Given the description of an element on the screen output the (x, y) to click on. 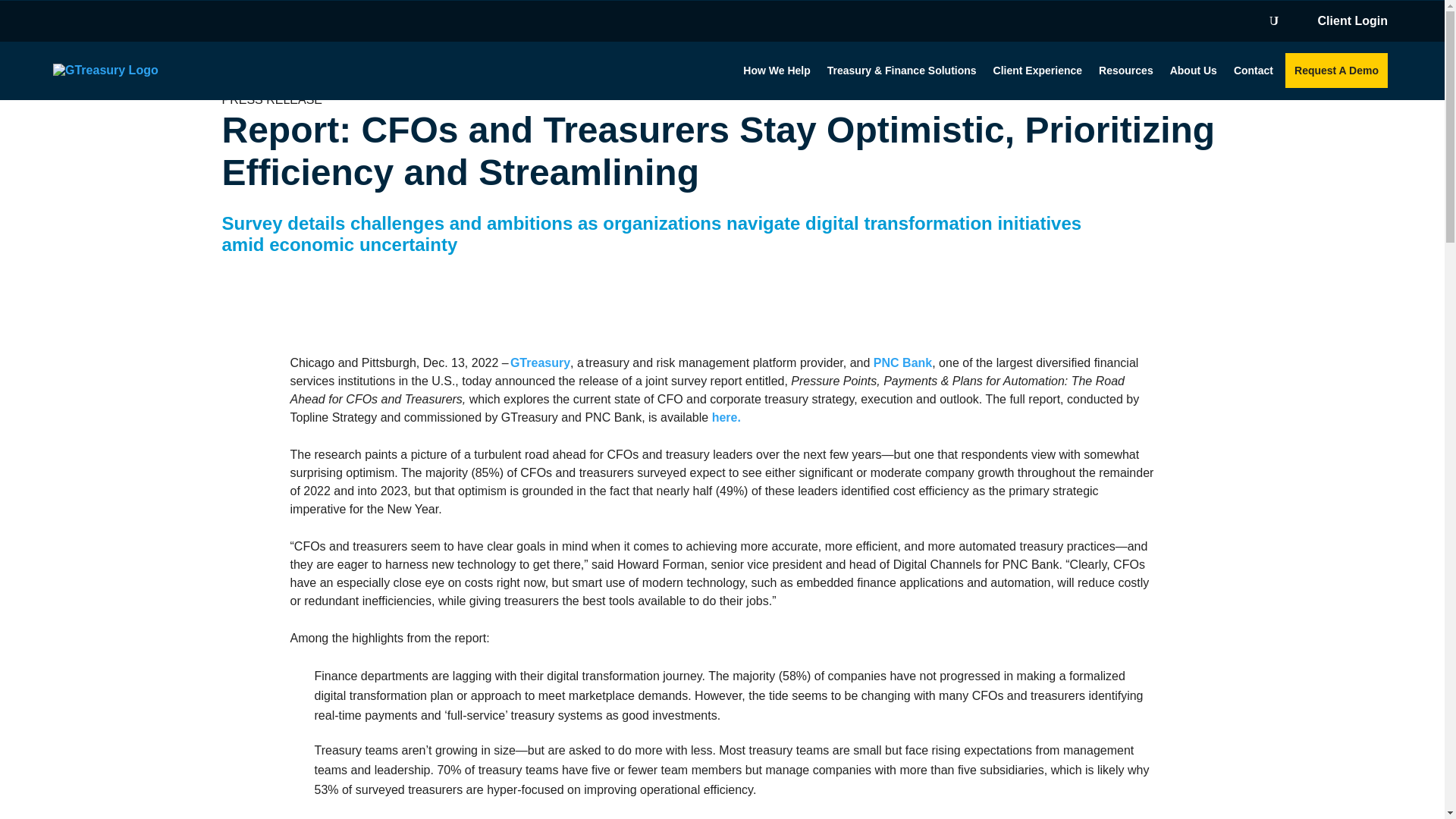
Client Login (1354, 24)
How We Help (775, 70)
Client Experience (1037, 70)
GTreasury-Logo-Horizontal-Reverse (105, 69)
Resources (1125, 70)
